Given the description of an element on the screen output the (x, y) to click on. 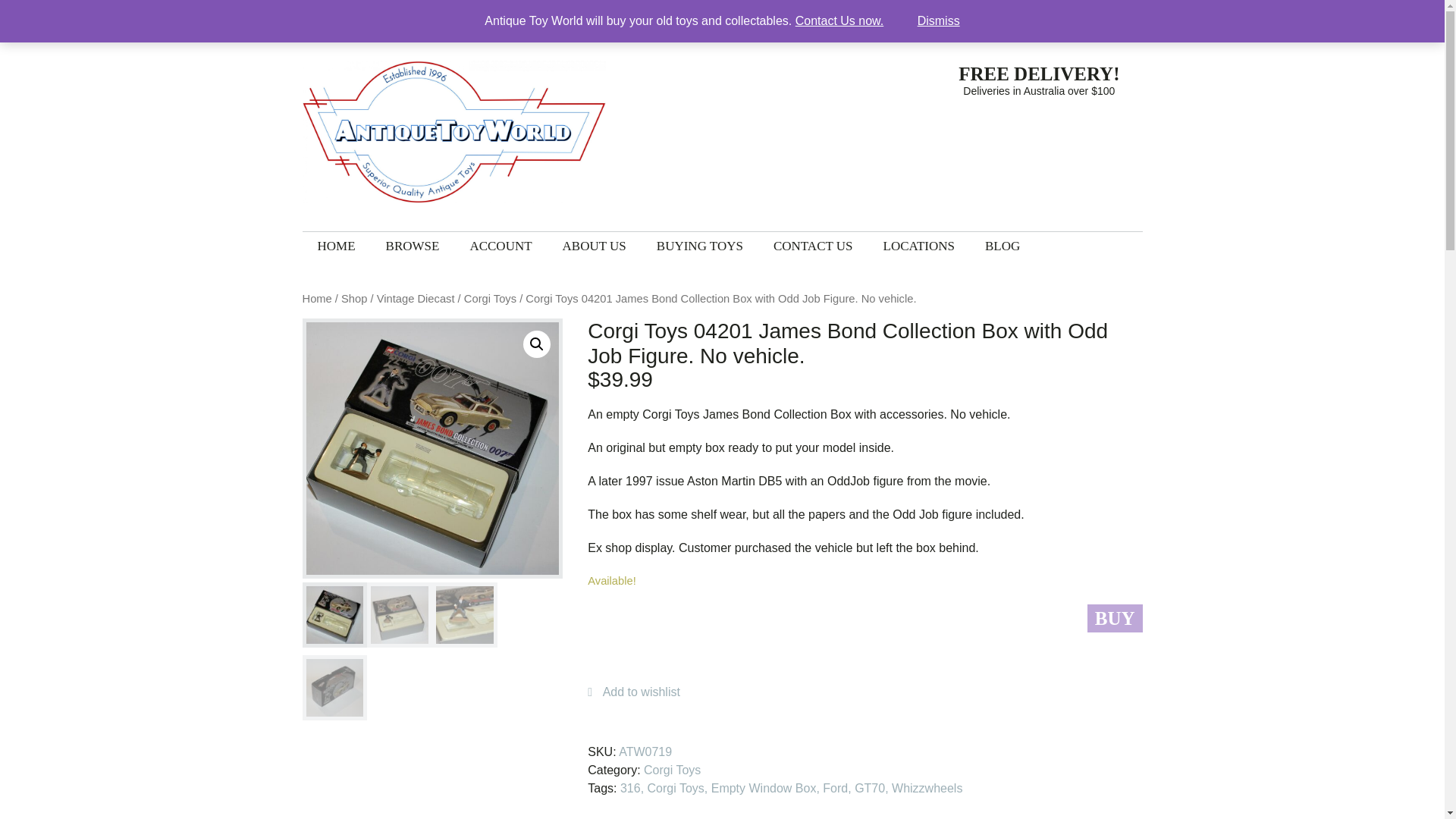
Corgi Toys (671, 769)
PayPal Message 1 (864, 663)
BLOG (1002, 245)
SHOP FOR TOYS (848, 14)
Ford (834, 788)
LOCATIONS (918, 245)
ABOUT US (594, 245)
ACCOUNT (500, 245)
316 (630, 788)
CART (930, 14)
BUYING TOYS (700, 245)
BUY (1114, 618)
HOME (335, 245)
